Given the description of an element on the screen output the (x, y) to click on. 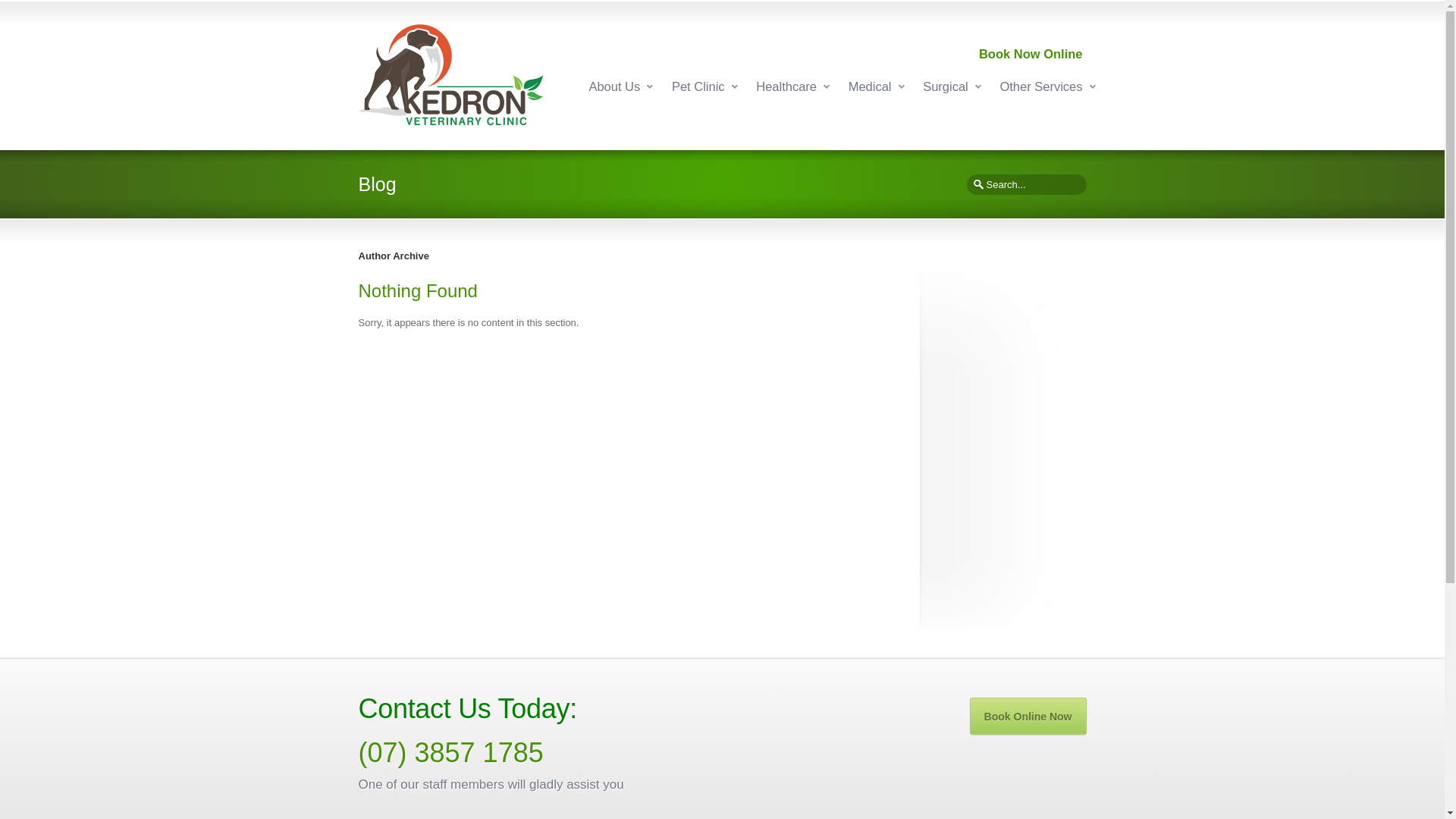
Book Online Now Element type: text (1027, 715)
Book Now Online Element type: text (1030, 53)
Surgical Element type: text (945, 86)
About Us Element type: text (613, 86)
Medical Element type: text (869, 86)
Pet Clinic Element type: text (698, 86)
(07) 3857 1785 Element type: text (449, 752)
Other Services Element type: text (1040, 86)
Healthcare Element type: text (786, 86)
